Given the description of an element on the screen output the (x, y) to click on. 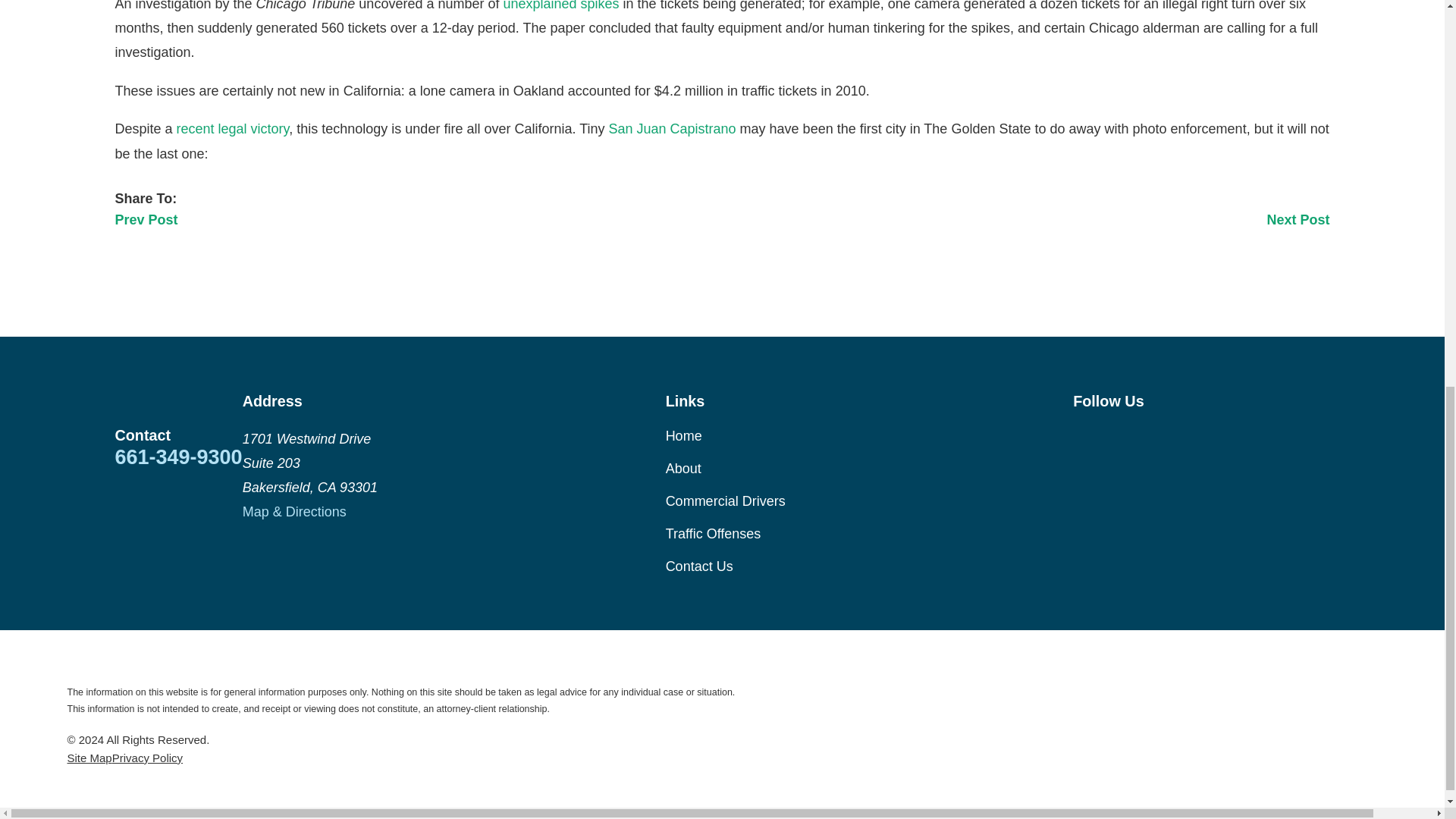
SC Says Red Light Cameras are Legal (232, 128)
SJC Removes PEC (671, 128)
Photo Enforcement Phoul-Ups (560, 5)
